Given the description of an element on the screen output the (x, y) to click on. 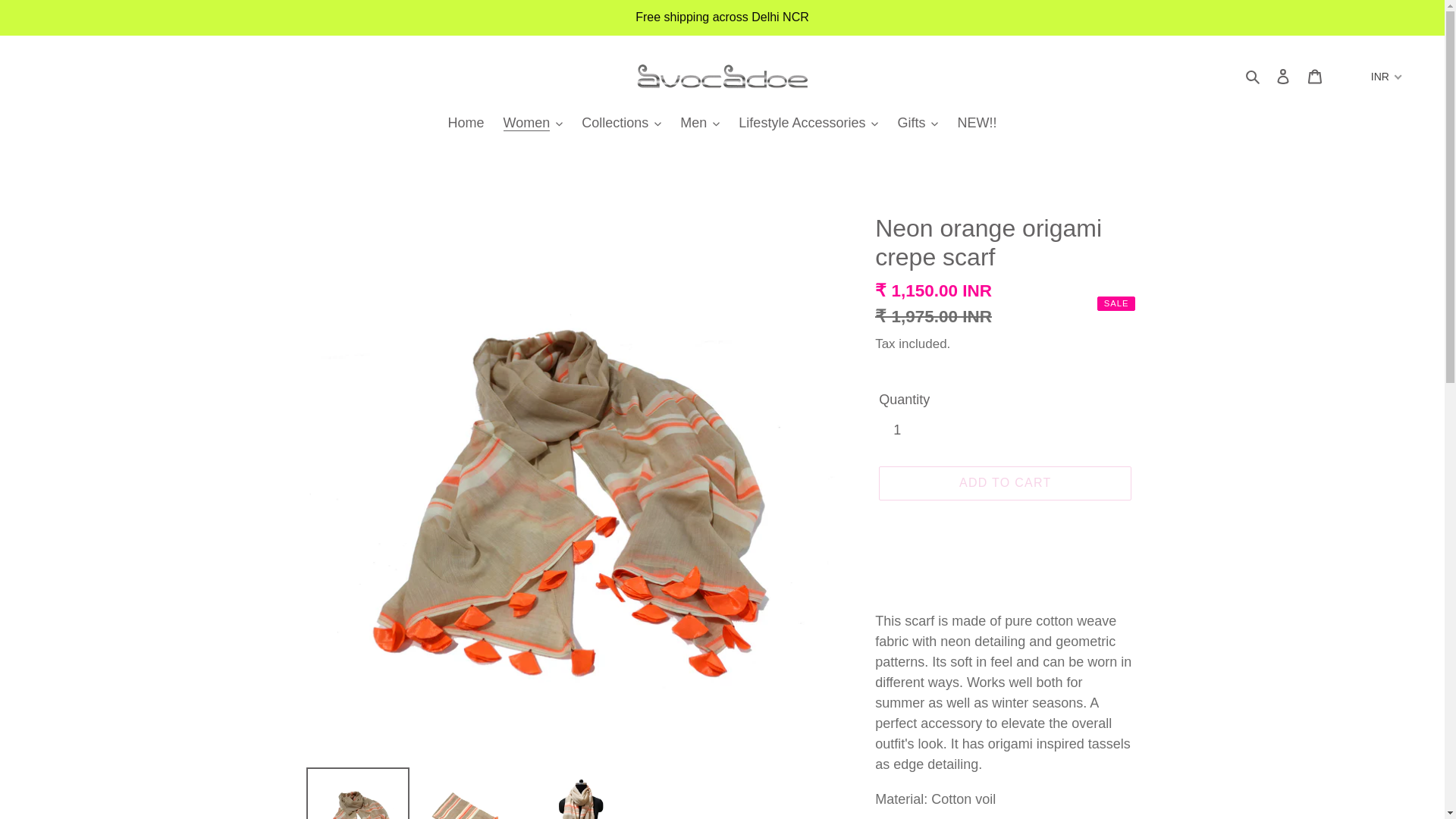
Search (1253, 75)
Cart (1314, 76)
1 (909, 430)
Log in (1282, 76)
